Given the description of an element on the screen output the (x, y) to click on. 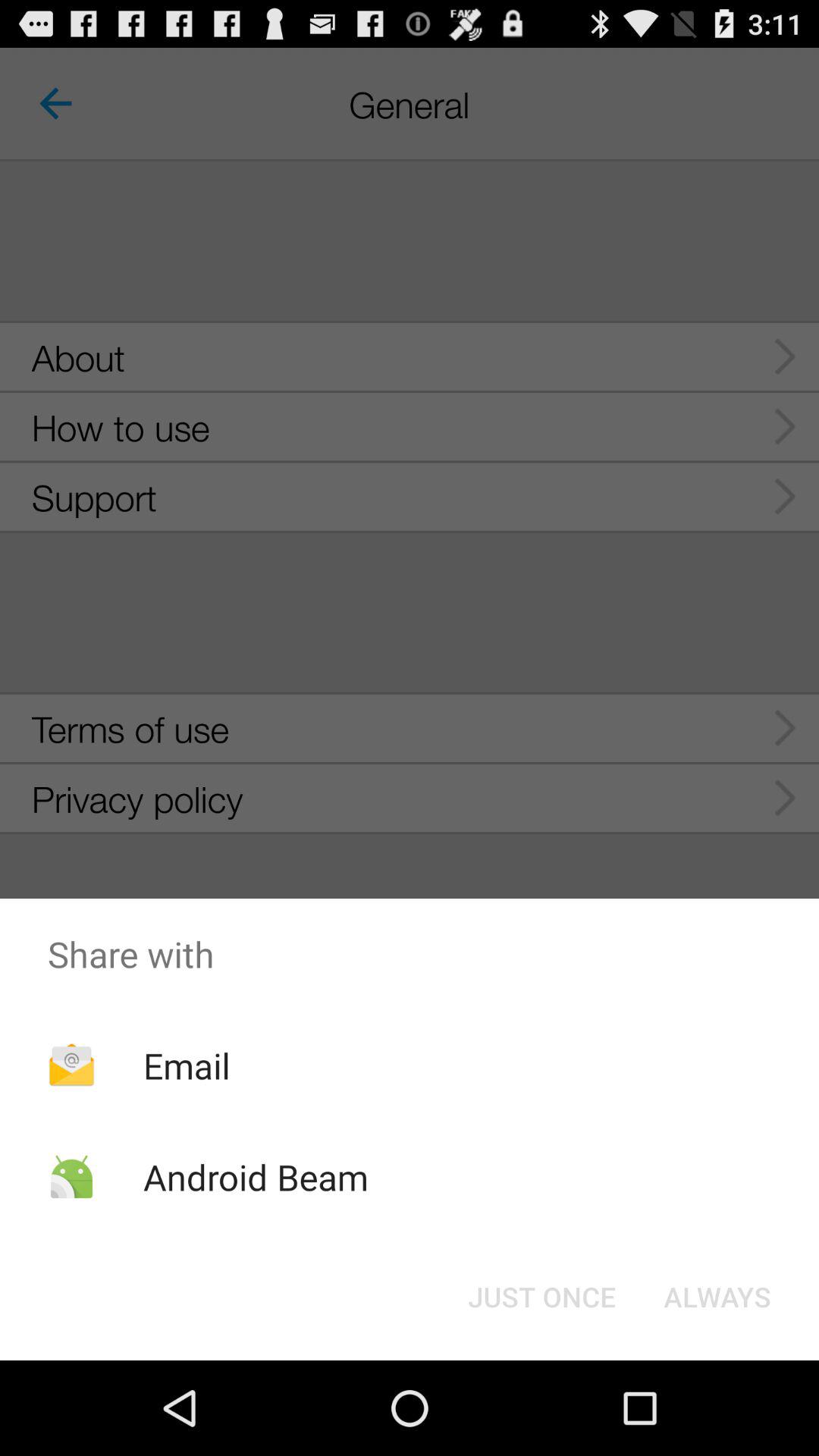
select icon to the right of the just once item (717, 1296)
